Given the description of an element on the screen output the (x, y) to click on. 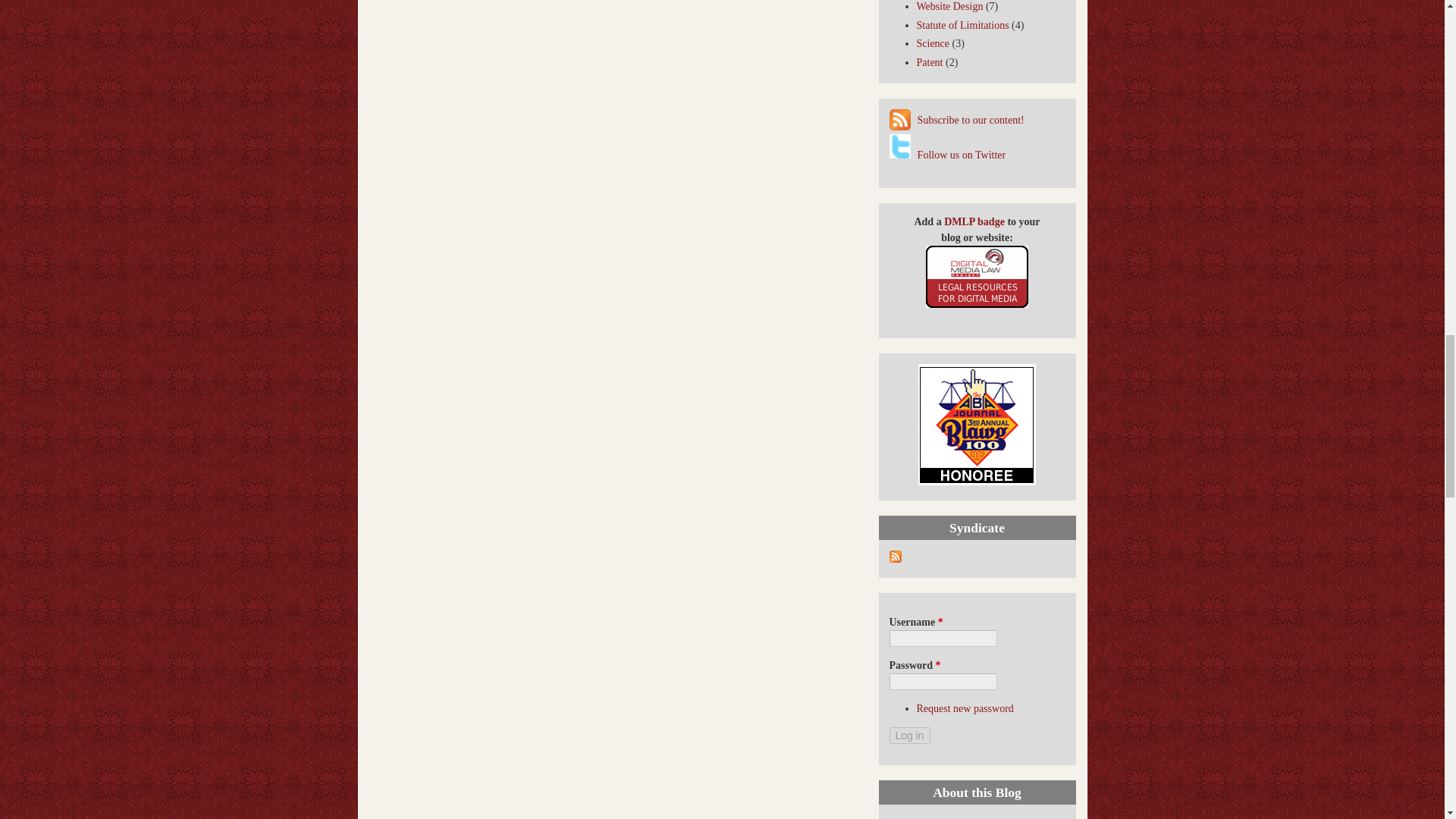
Digital Media Law Project (976, 304)
Subscribe to Syndicate (894, 559)
Request new password via e-mail. (964, 708)
Log in (909, 735)
